Given the description of an element on the screen output the (x, y) to click on. 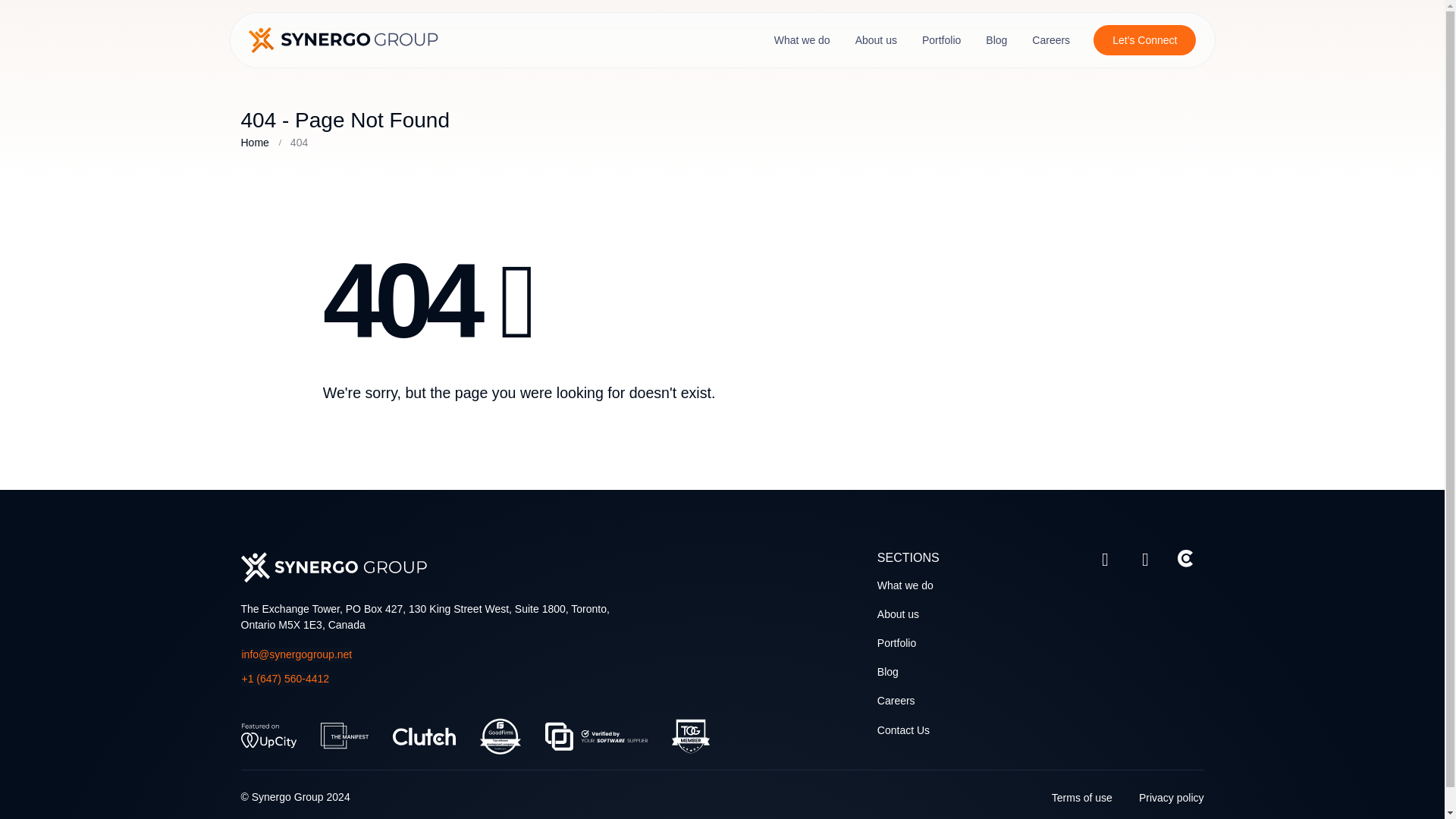
What we do (802, 40)
Home (255, 142)
Contact Us (903, 729)
synergo-web-partners-footer-tog (690, 736)
synergo-web-partners-footer-good-firms (499, 736)
About us (875, 40)
About us (897, 613)
Synergo LinkedIn Social Account (1144, 559)
Synergo Twitter Social Account (1104, 559)
Terms of use (1081, 797)
synergo-web-partners-footer-verfied YSS (595, 736)
Privacy policy (1171, 797)
synergo-web-partners-footer-clunch (424, 736)
Privacy policy (1171, 797)
Blog (996, 40)
